Given the description of an element on the screen output the (x, y) to click on. 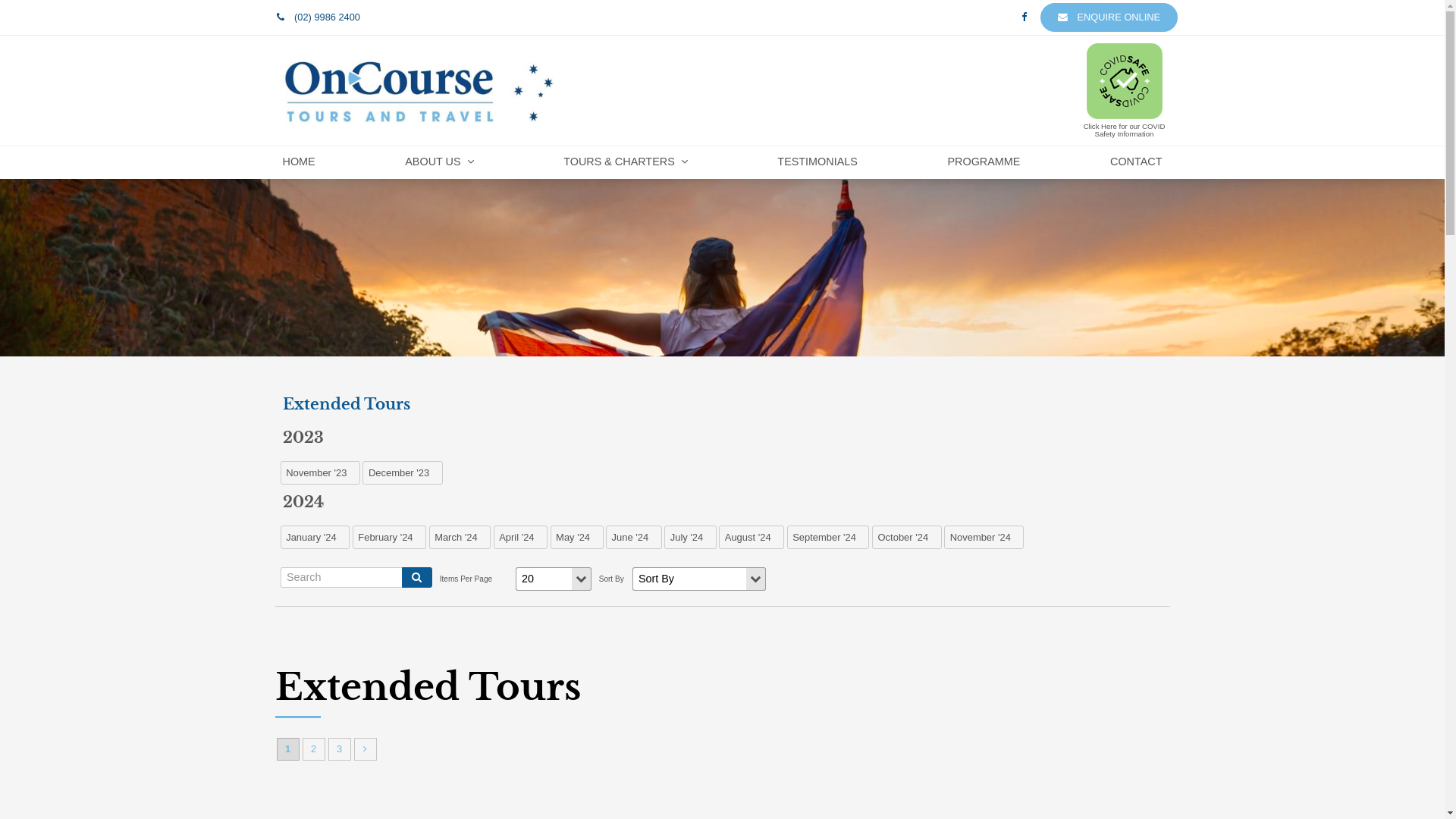
April '24 Element type: text (520, 536)
November '24 Element type: text (983, 536)
2024 Element type: text (722, 501)
Extended Tours Element type: text (722, 403)
March '24 Element type: text (459, 536)
January '24 Element type: text (315, 536)
1 Element type: text (287, 748)
ENQUIRE ONLINE Element type: text (1108, 17)
TOURS & CHARTERS Element type: text (625, 162)
August '24 Element type: text (751, 536)
2 Element type: text (312, 748)
December '23 Element type: text (402, 472)
2023 Element type: text (722, 436)
HOME Element type: text (298, 162)
July '24 Element type: text (689, 536)
May '24 Element type: text (576, 536)
June '24 Element type: text (633, 536)
TESTIMONIALS Element type: text (817, 162)
September '24 Element type: text (828, 536)
February '24 Element type: text (389, 536)
November '23 Element type: text (320, 472)
Click Here for our COVID Safety Information Element type: text (1123, 90)
ABOUT US Element type: text (438, 162)
PROGRAMME Element type: text (983, 162)
3 Element type: text (338, 748)
CONTACT Element type: text (1135, 162)
October '24 Element type: text (906, 536)
